Given the description of an element on the screen output the (x, y) to click on. 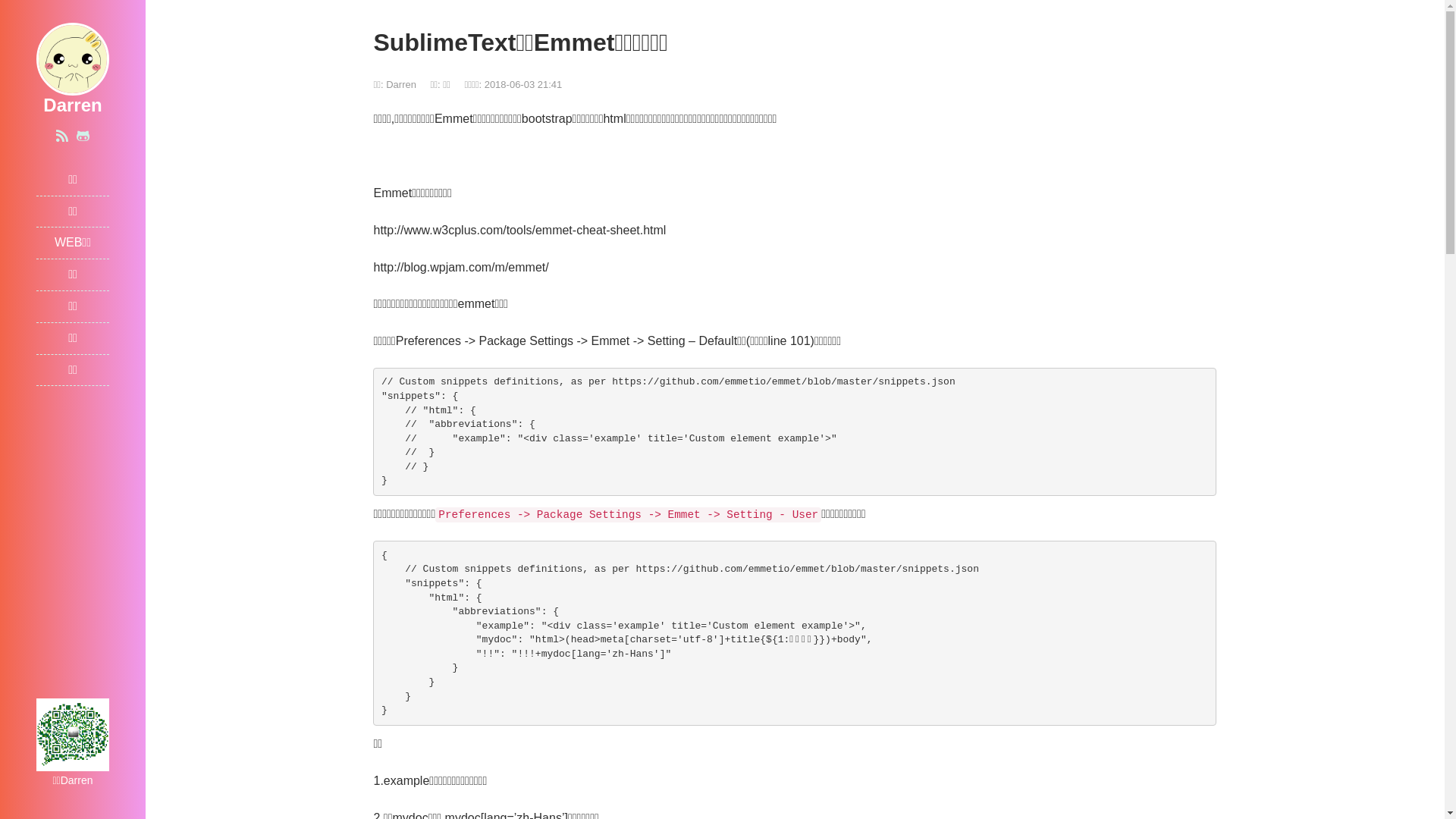
Darren-Blog Element type: hover (72, 57)
